Given the description of an element on the screen output the (x, y) to click on. 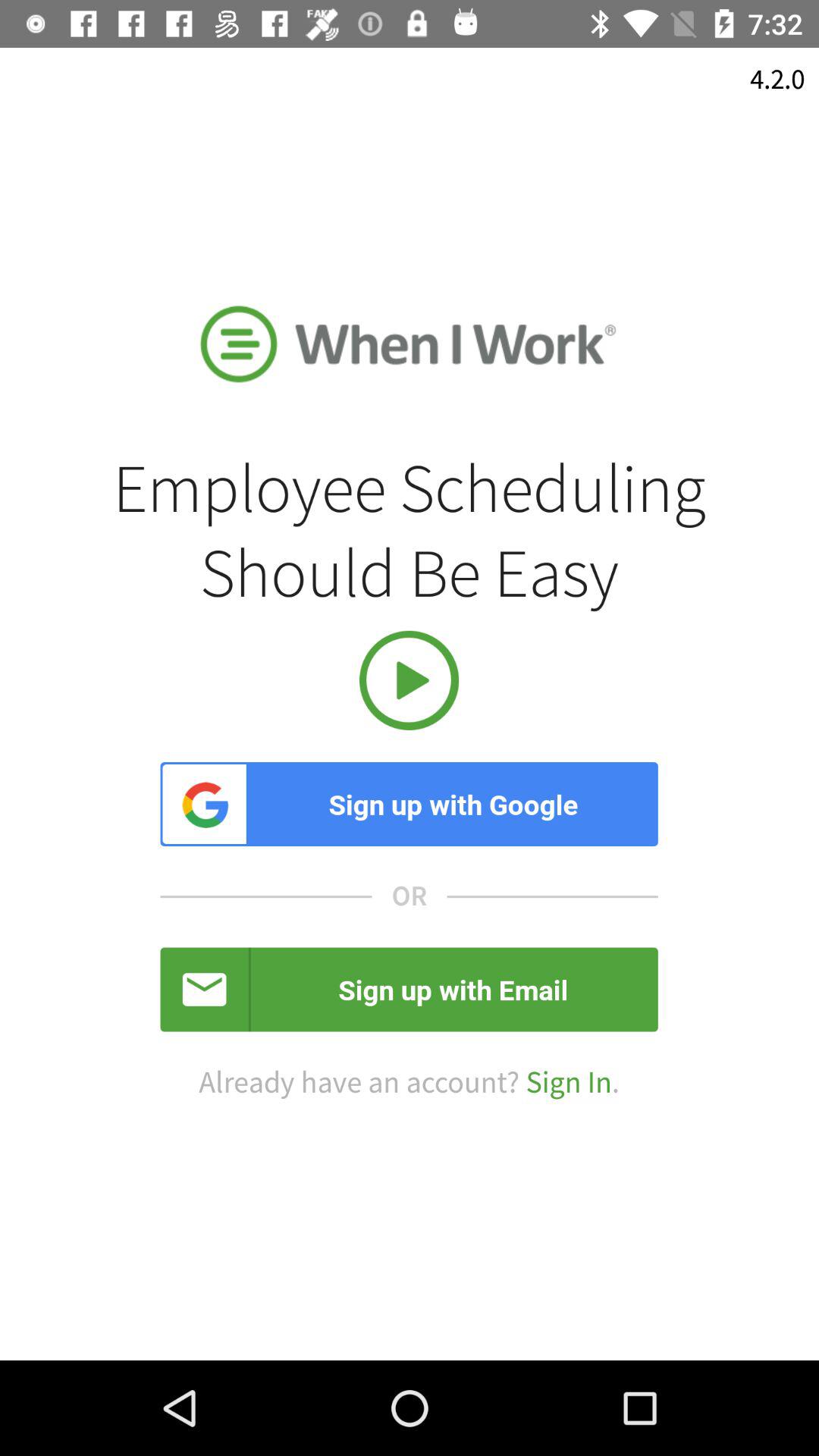
play video (408, 680)
